Given the description of an element on the screen output the (x, y) to click on. 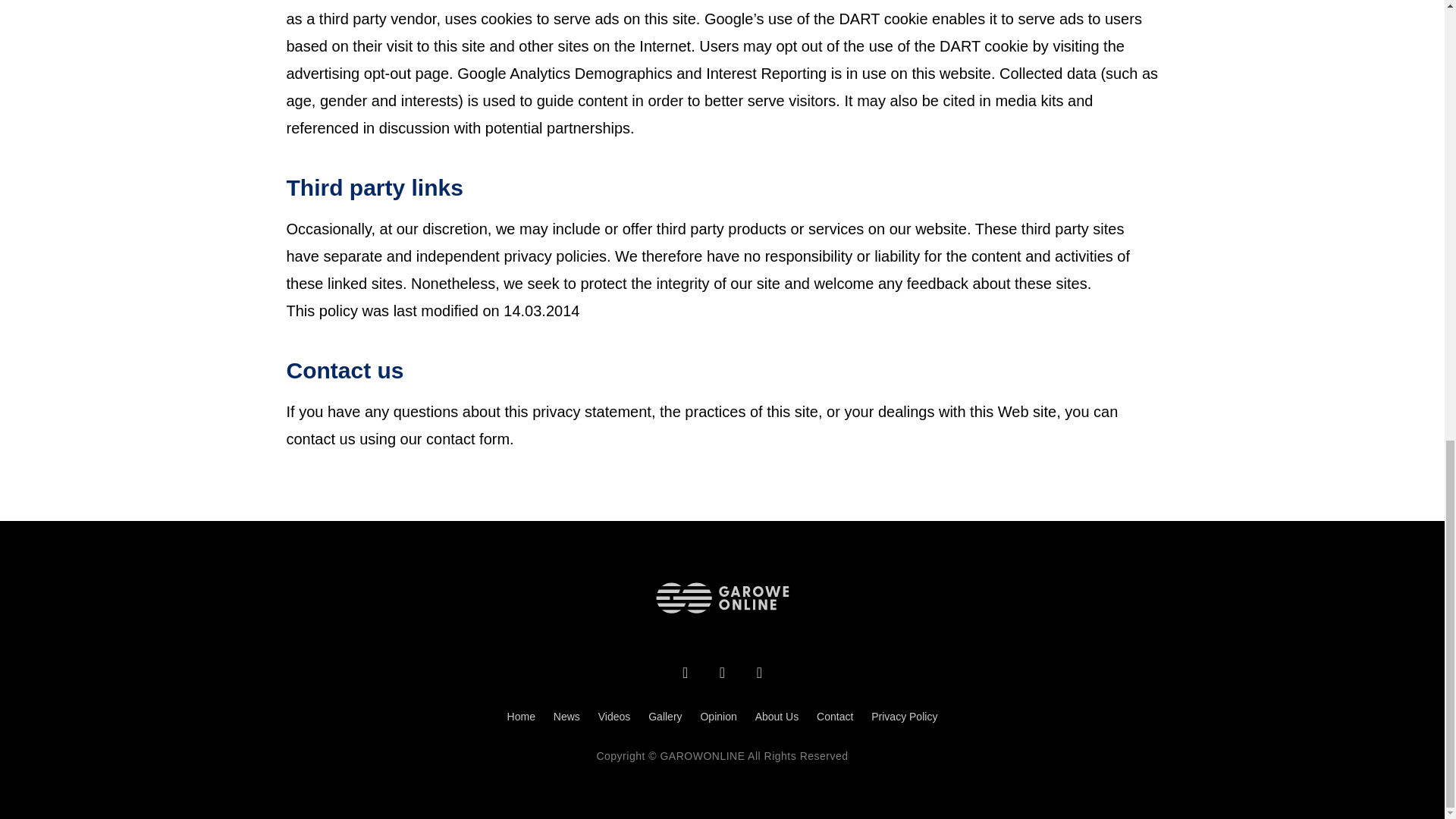
Opinion (717, 716)
Contact (834, 716)
Videos (614, 716)
Gallery (665, 716)
Home (520, 716)
Privacy Policy (903, 716)
News (566, 716)
About Us (777, 716)
